Given the description of an element on the screen output the (x, y) to click on. 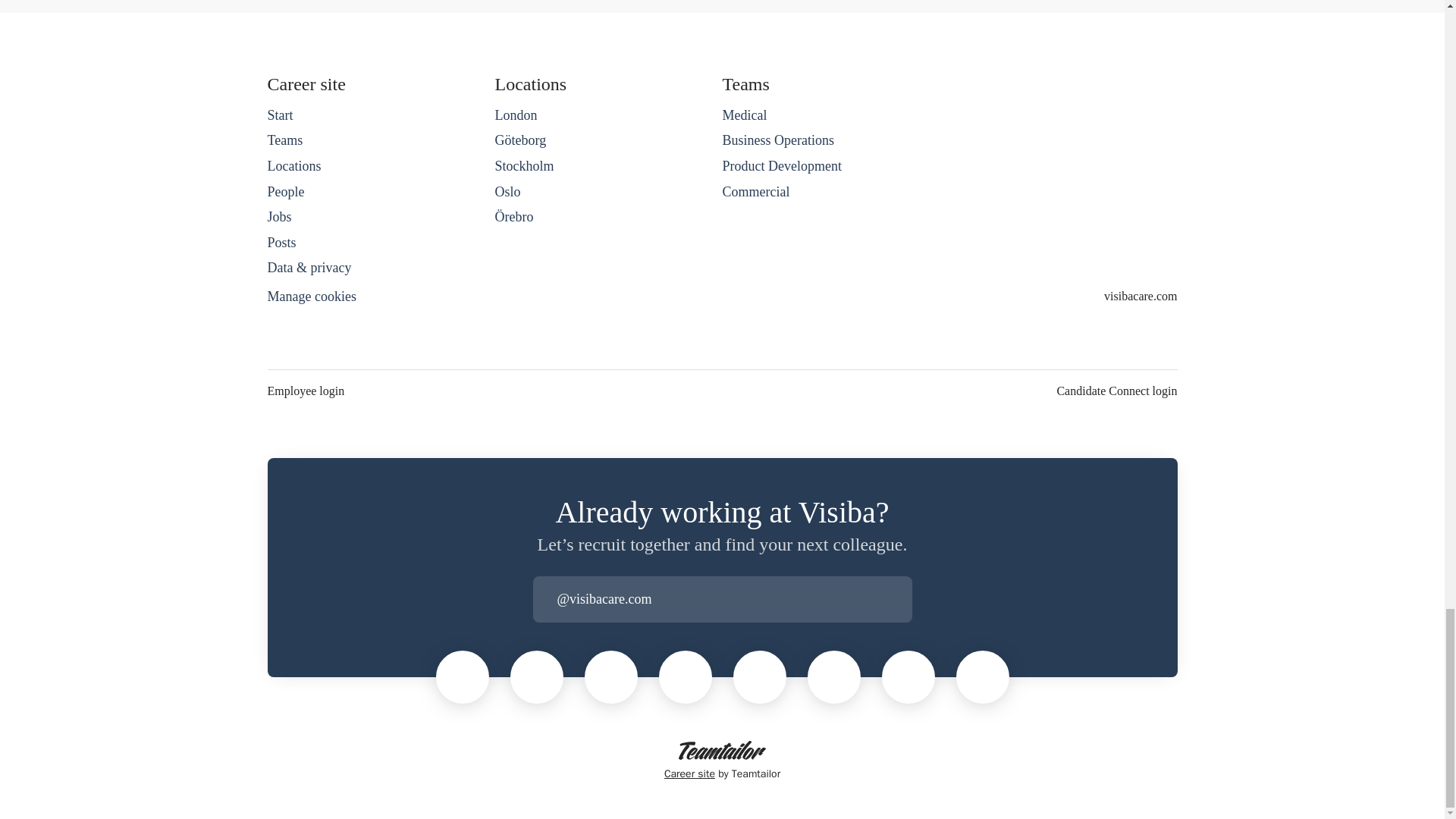
Manage cookies (310, 296)
Oslo (507, 191)
Carolina Berglund (982, 676)
Log in (899, 598)
Jonas Carlsson (610, 676)
People (285, 191)
Samuel Sporrenstrand (536, 676)
Medical (744, 115)
Jennie Lindell (685, 676)
Teams (284, 139)
Posts (280, 242)
London (516, 115)
Start (279, 115)
Emilia Roos (908, 676)
Locations (293, 165)
